Given the description of an element on the screen output the (x, y) to click on. 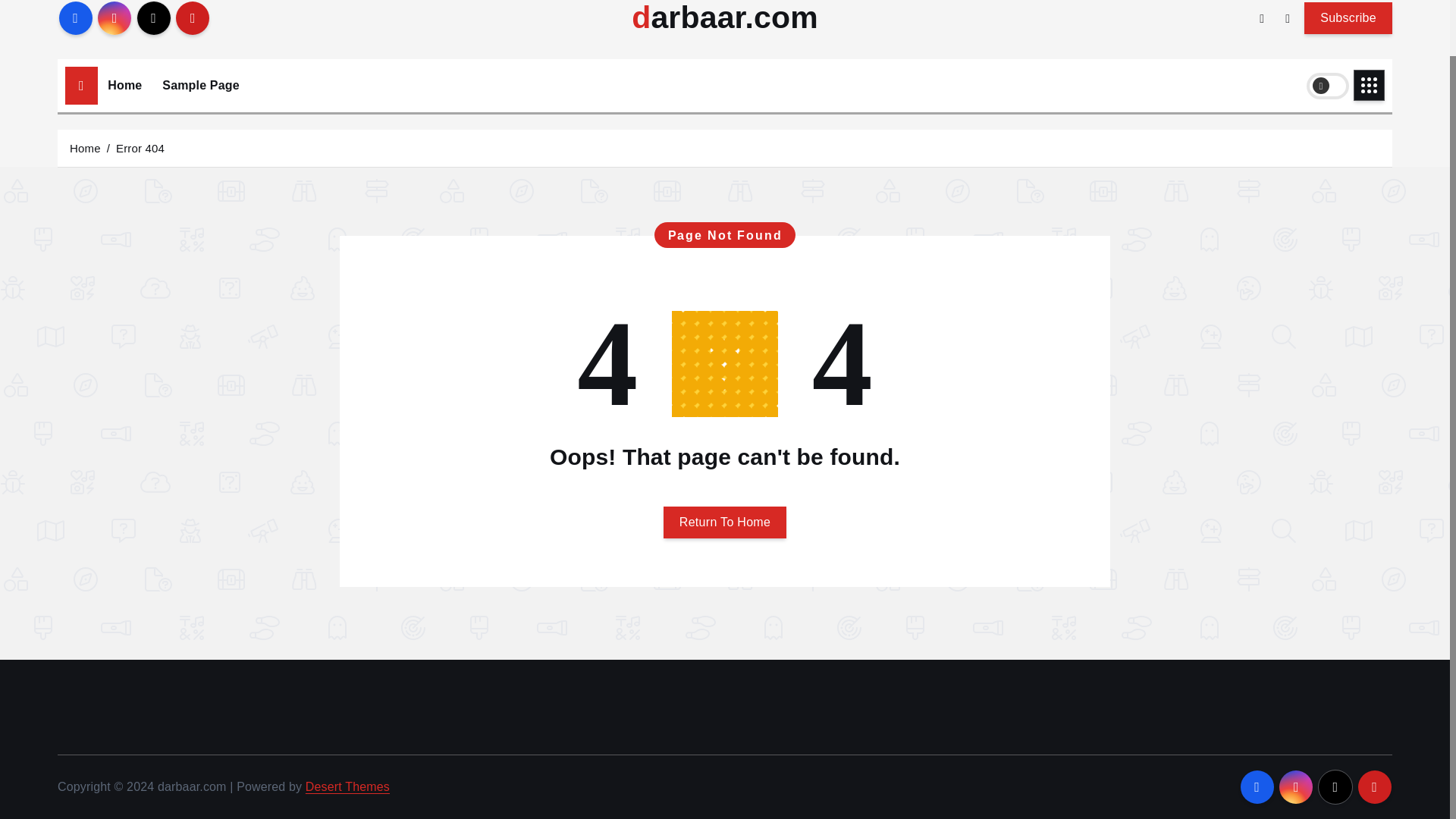
Home (124, 85)
Subscribe (1347, 17)
Home (84, 146)
Sample Page (200, 85)
darbaar.com (724, 17)
Return To Home (724, 522)
Home (124, 85)
Desert Themes (347, 786)
Error 404 (140, 146)
